Given the description of an element on the screen output the (x, y) to click on. 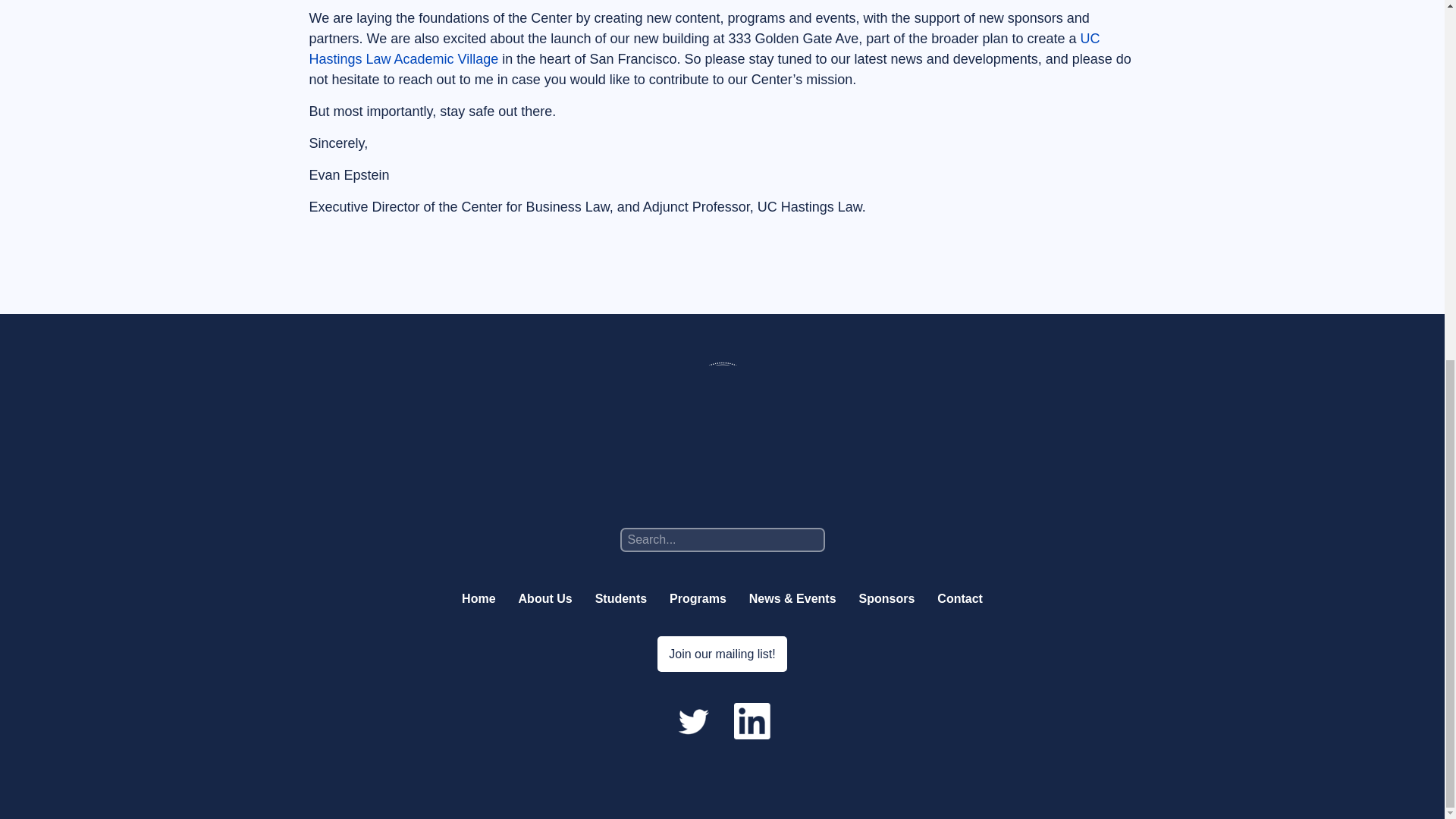
Home (478, 598)
UC Hastings Law Academic Village (704, 48)
About Us (545, 598)
